Given the description of an element on the screen output the (x, y) to click on. 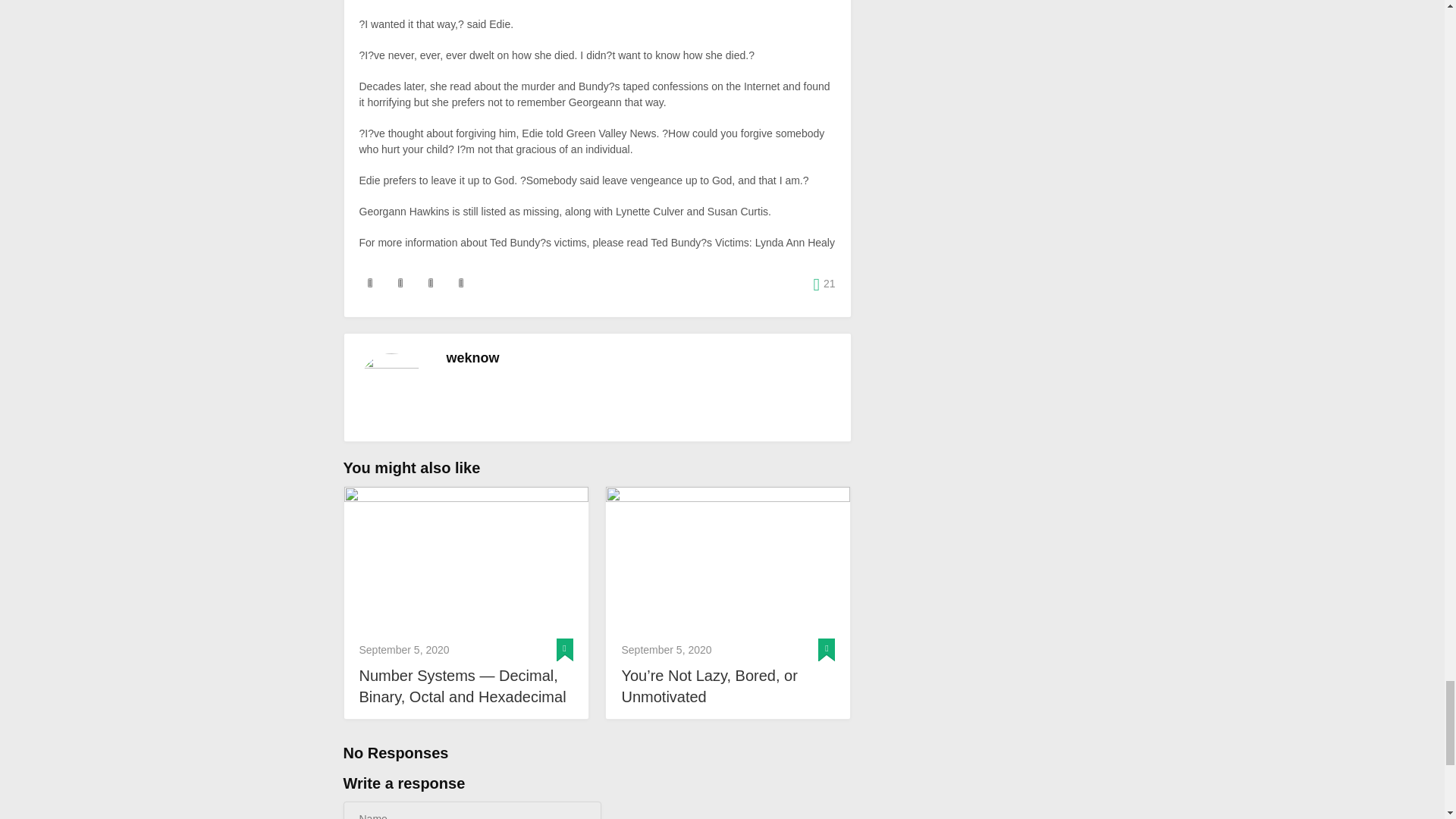
Like (824, 283)
21 (824, 283)
weknow (472, 357)
